Given the description of an element on the screen output the (x, y) to click on. 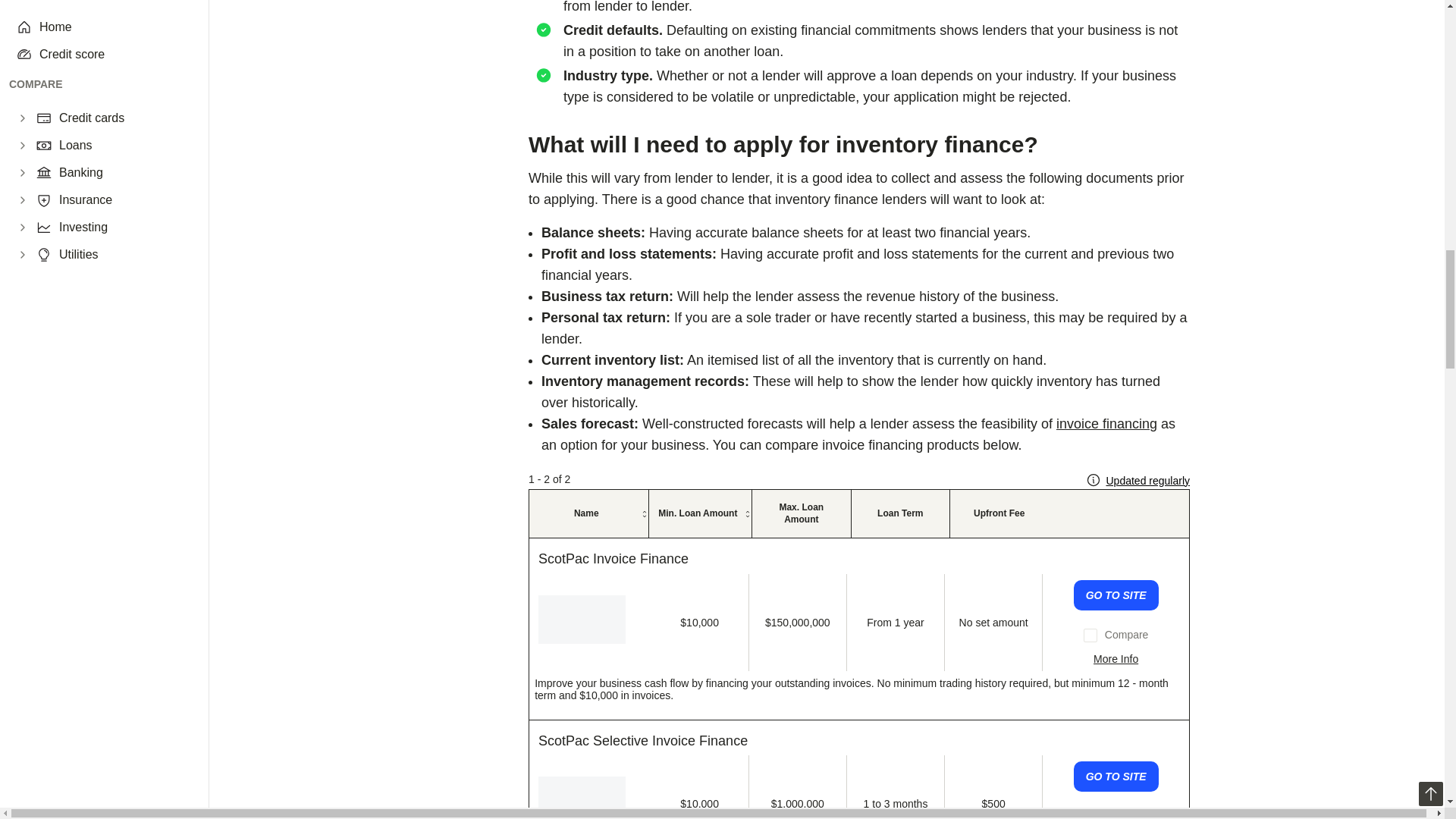
Apply Now For The ScotPac Selective Invoice Finance (1116, 776)
Read More About The ScotPac Invoice Finance (1116, 658)
Apply Now For The ScotPac Invoice Finance (1116, 594)
